Given the description of an element on the screen output the (x, y) to click on. 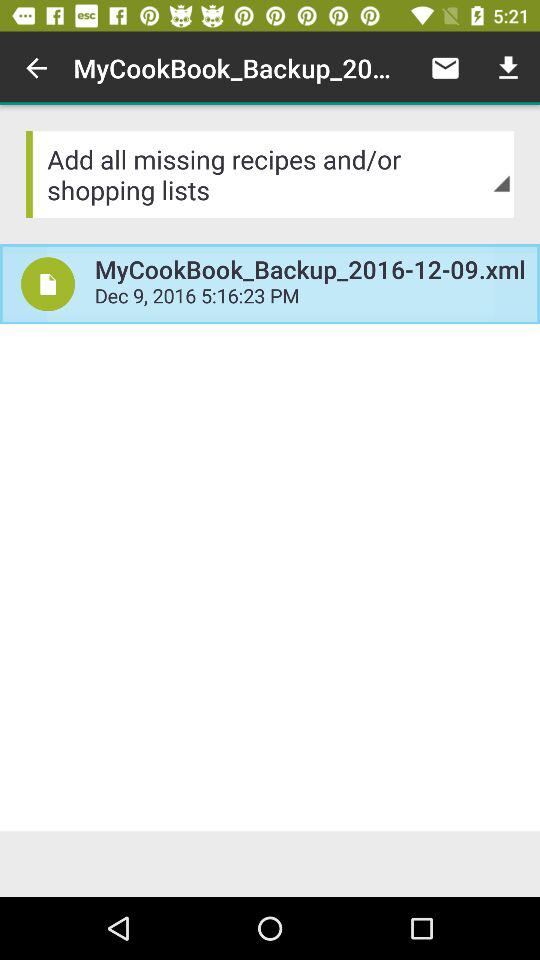
turn on the item next to mycookbook_backup_2016 12 09 icon (444, 67)
